Given the description of an element on the screen output the (x, y) to click on. 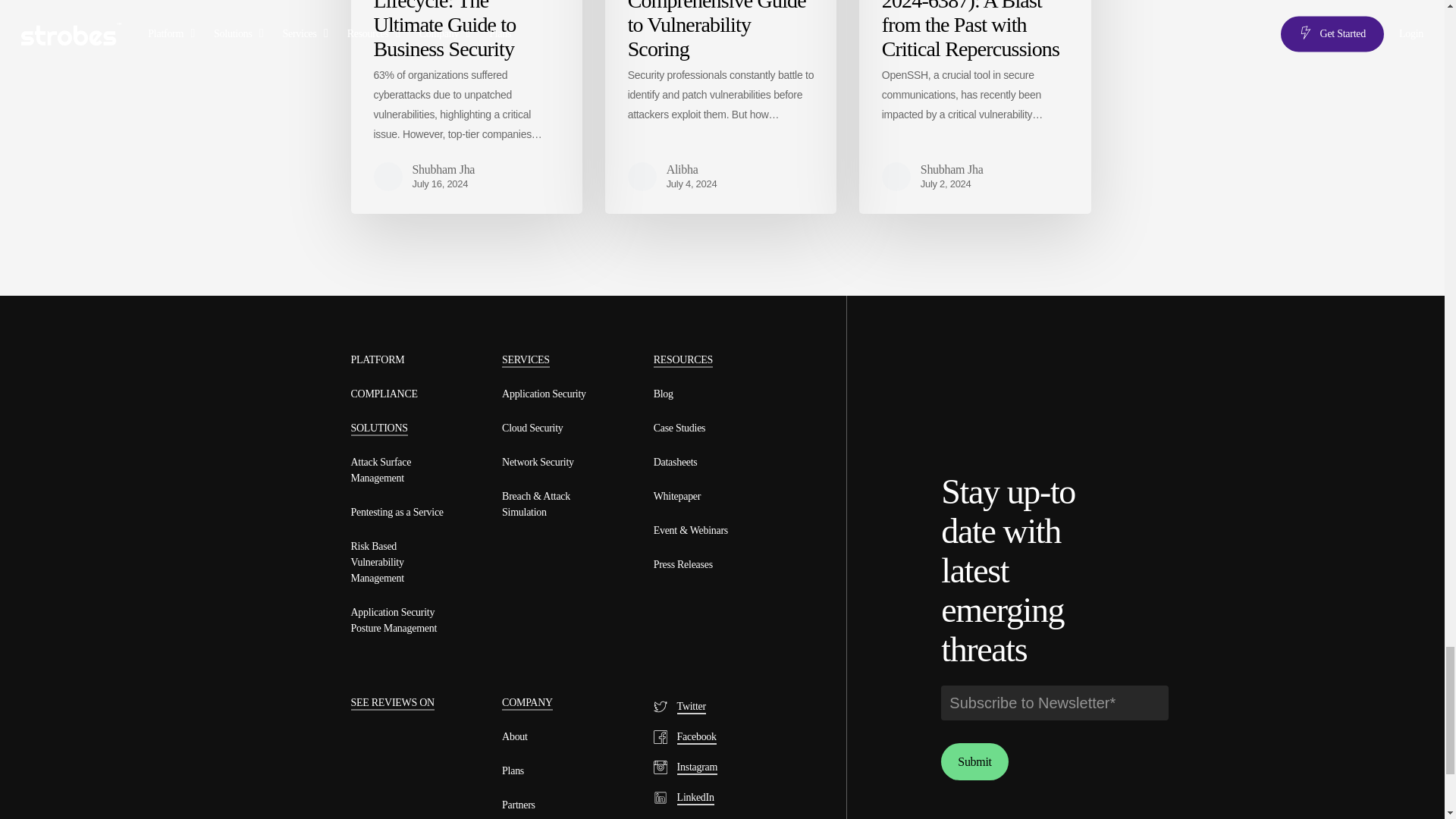
Submit (973, 761)
